Given the description of an element on the screen output the (x, y) to click on. 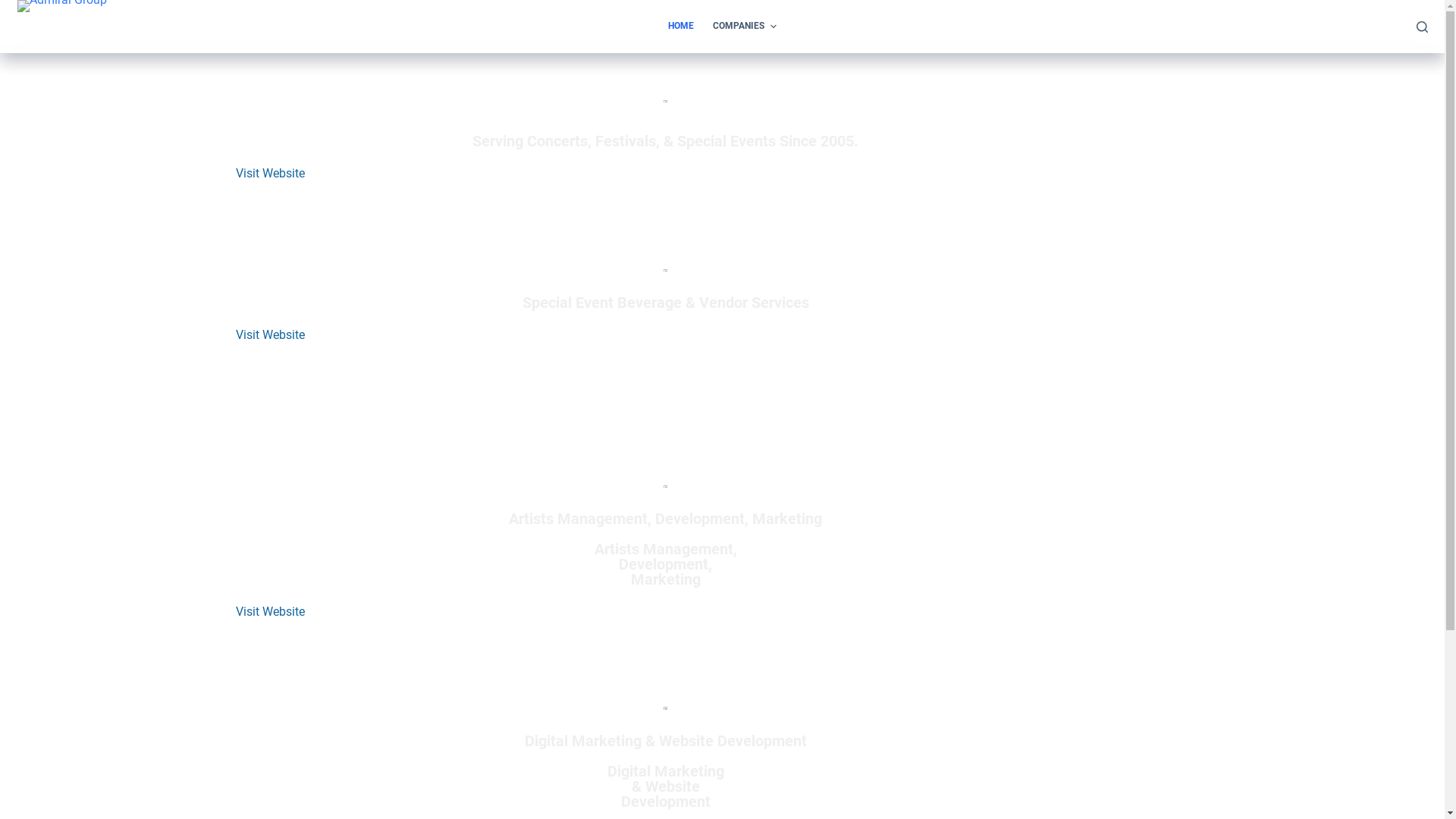
Skip to content Element type: text (15, 7)
Visit Website Element type: text (270, 334)
HOME Element type: text (680, 26)
Visit Website Element type: text (270, 611)
Admiral Creative Element type: text (865, 792)
PRIVACY POLICY Element type: text (703, 706)
HOME Element type: text (634, 706)
Visit Website Element type: text (270, 172)
COMPANIES Element type: text (744, 26)
TERMS OF USE Element type: text (790, 706)
